Given the description of an element on the screen output the (x, y) to click on. 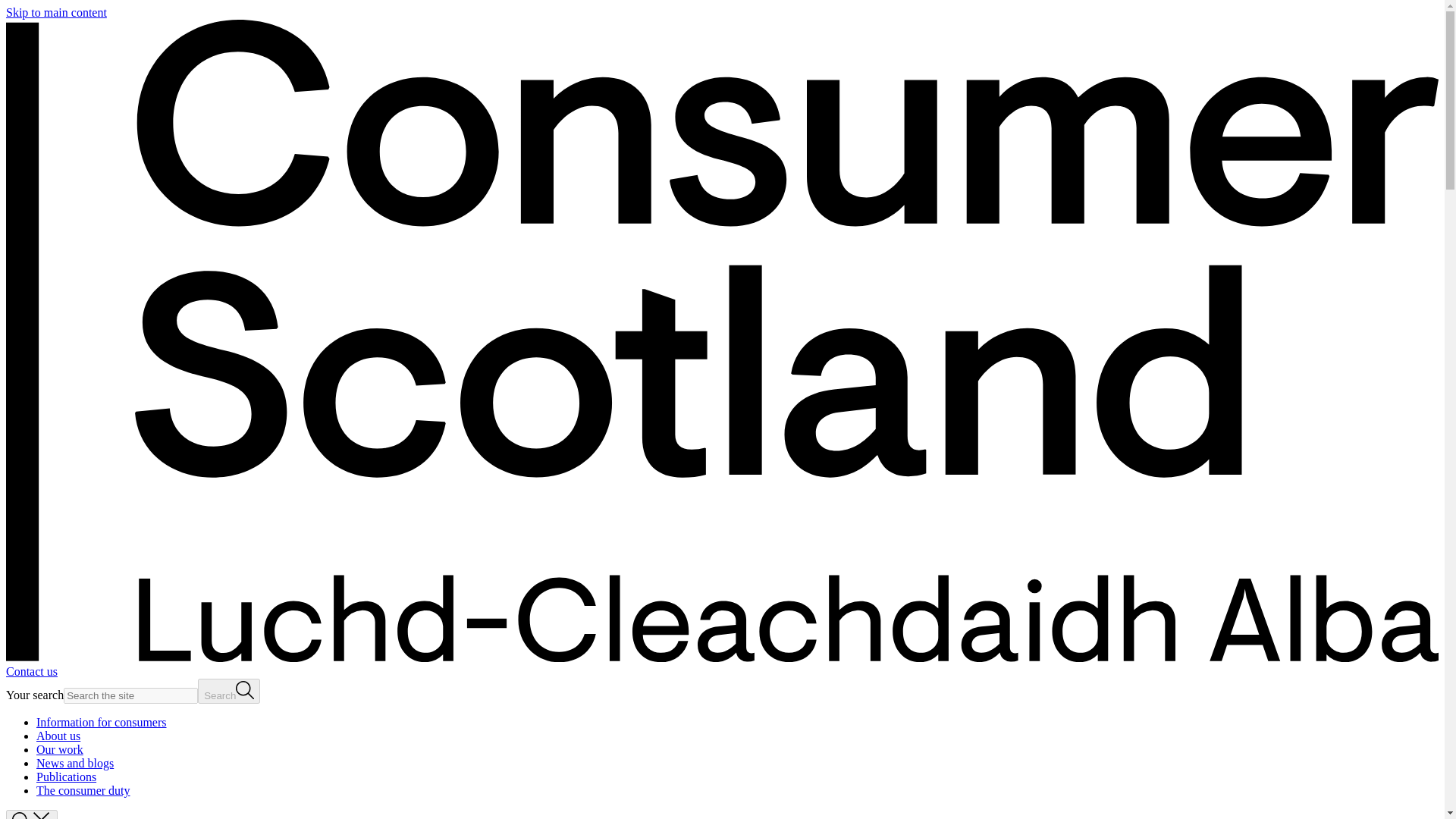
Our work (59, 748)
Information for consumers (101, 721)
Publications (66, 776)
Contact us (31, 671)
The consumer duty (83, 789)
News and blogs (74, 762)
Search (229, 690)
About us (58, 735)
Skip to main content (55, 11)
